Given the description of an element on the screen output the (x, y) to click on. 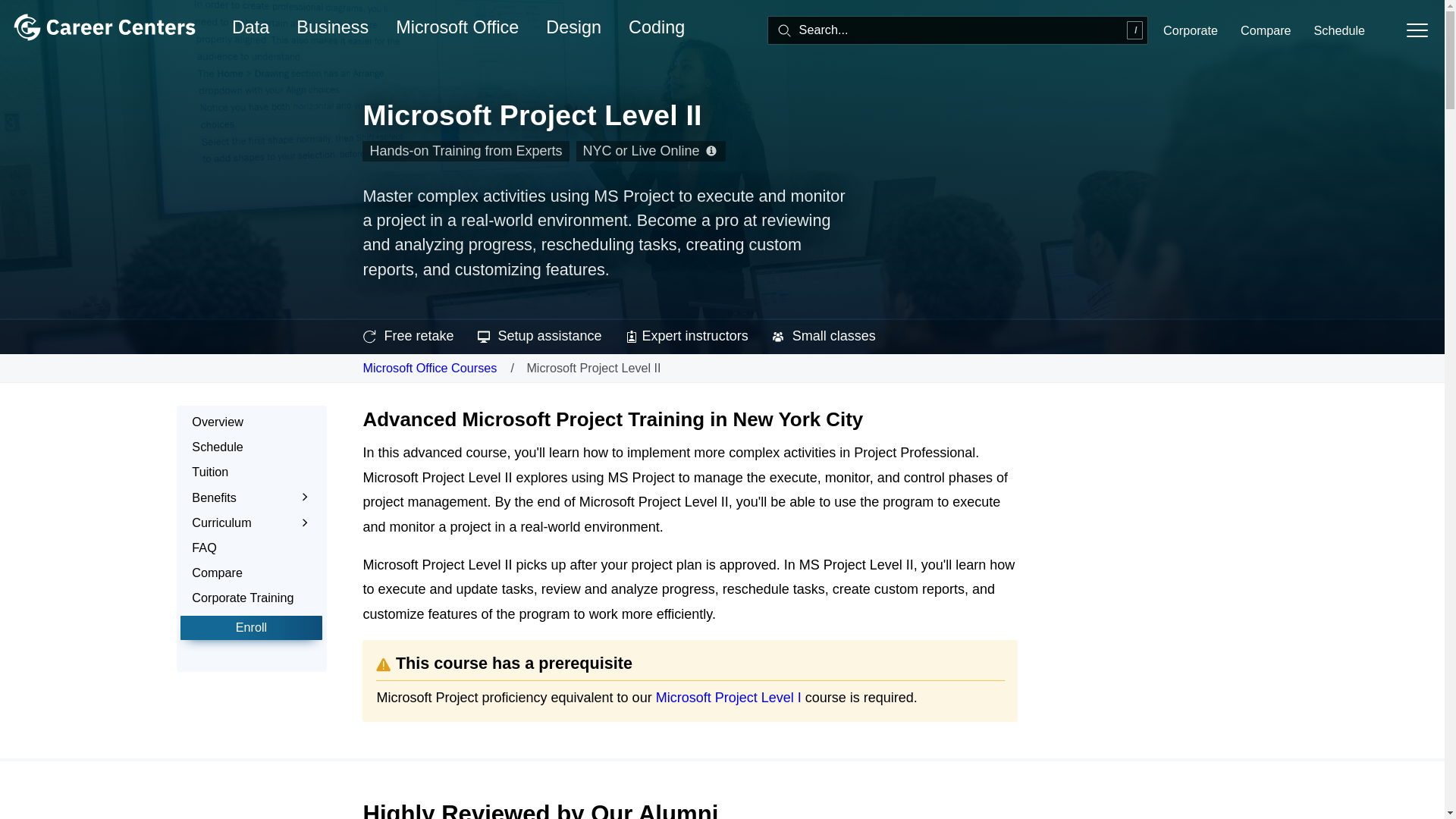
Design (573, 26)
Business (331, 26)
Microsoft Office (456, 26)
Data (250, 26)
